Given the description of an element on the screen output the (x, y) to click on. 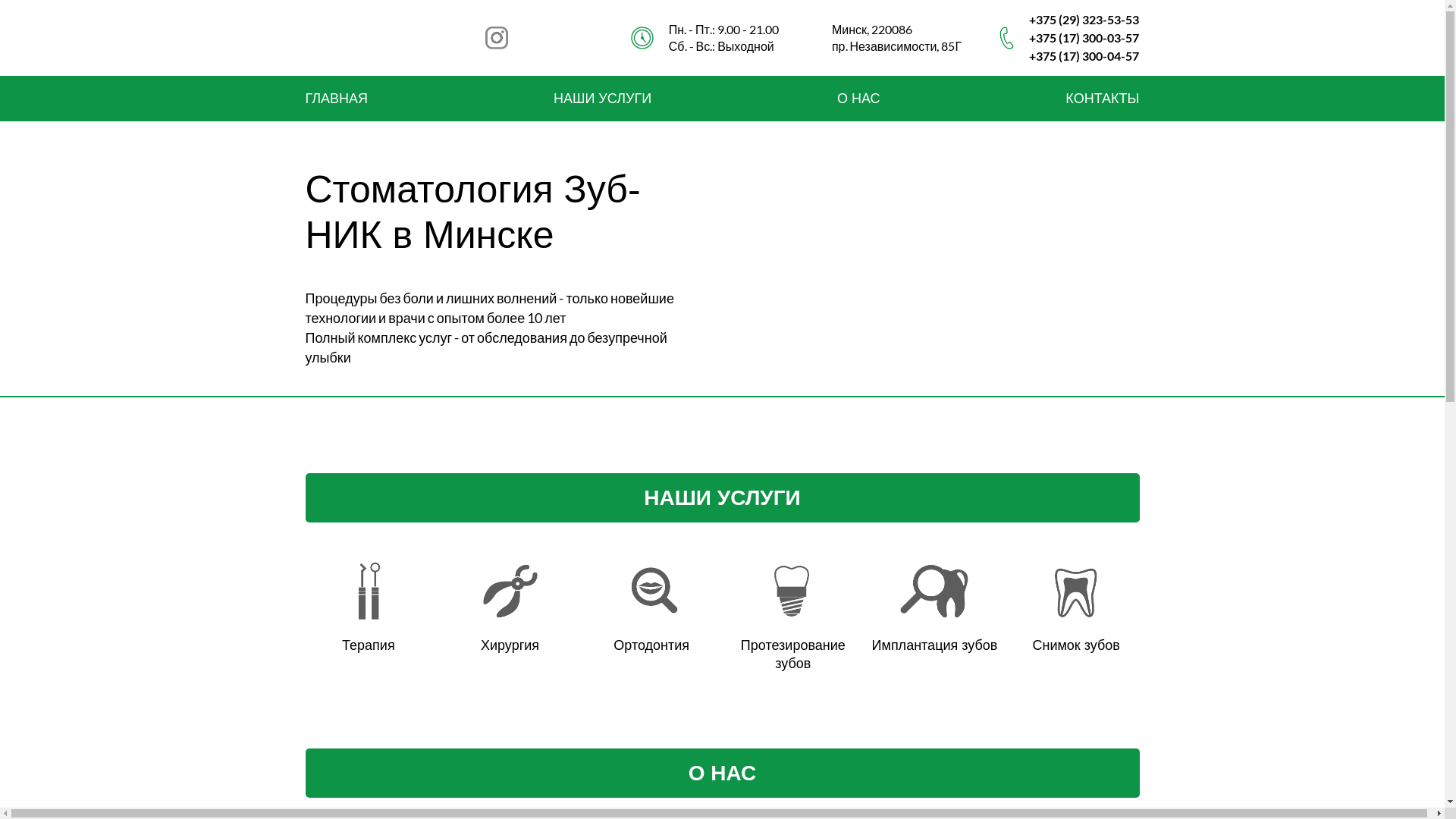
+375 (17) 300-04-57 Element type: text (1084, 55)
+375 (17) 300-03-57 Element type: text (1084, 37)
+375 (29) 323-53-53 Element type: text (1084, 19)
